Given the description of an element on the screen output the (x, y) to click on. 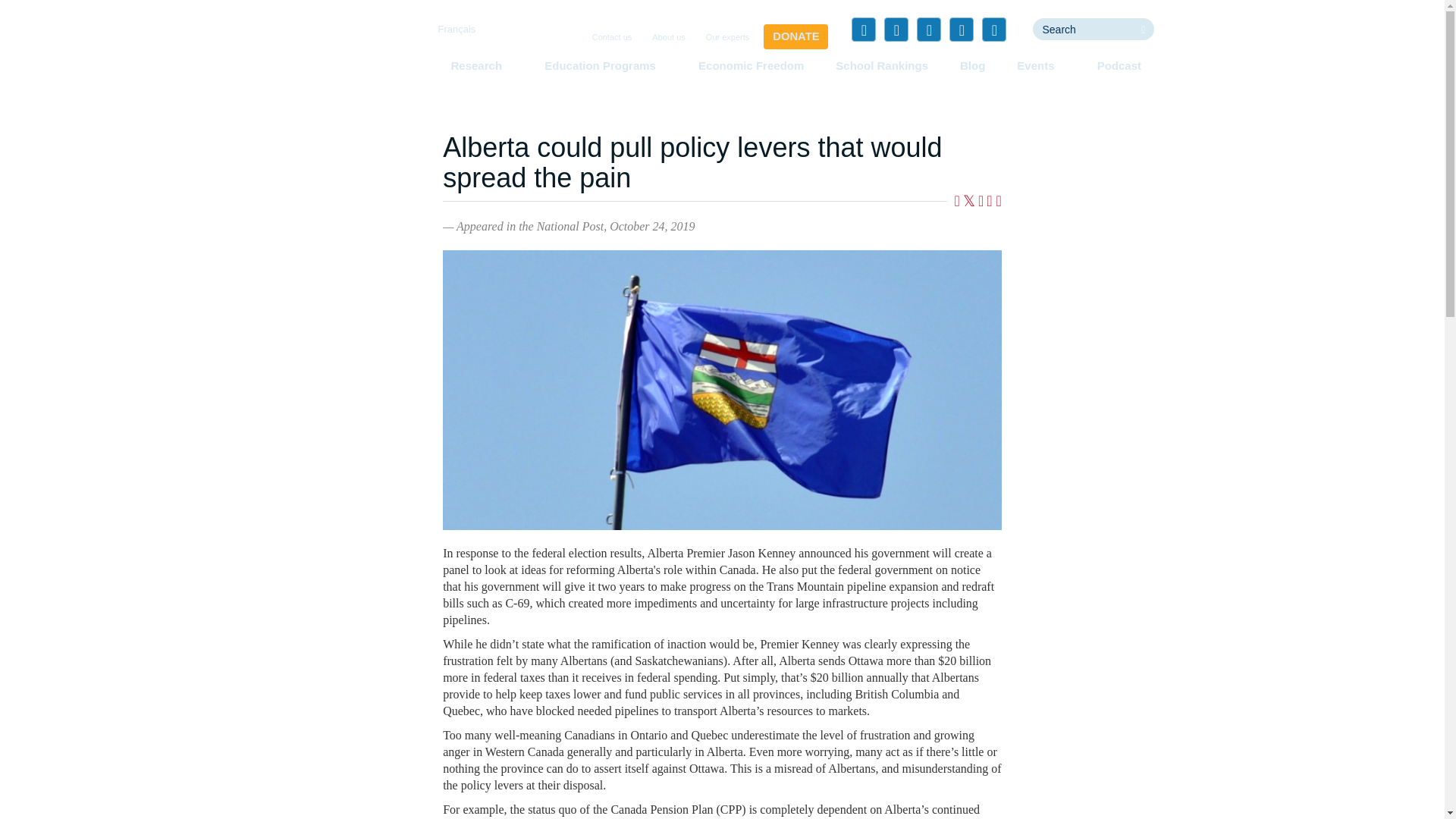
DONATE (795, 36)
About us (668, 37)
Instagram (993, 29)
Our experts (727, 37)
Research (481, 65)
Twitter (895, 29)
Facebook (863, 29)
Contact us (612, 37)
LinkedIn (928, 29)
School Rankings (882, 65)
YouTube (961, 29)
Enter the terms you wish to search for. (1082, 29)
Home (352, 56)
